Given the description of an element on the screen output the (x, y) to click on. 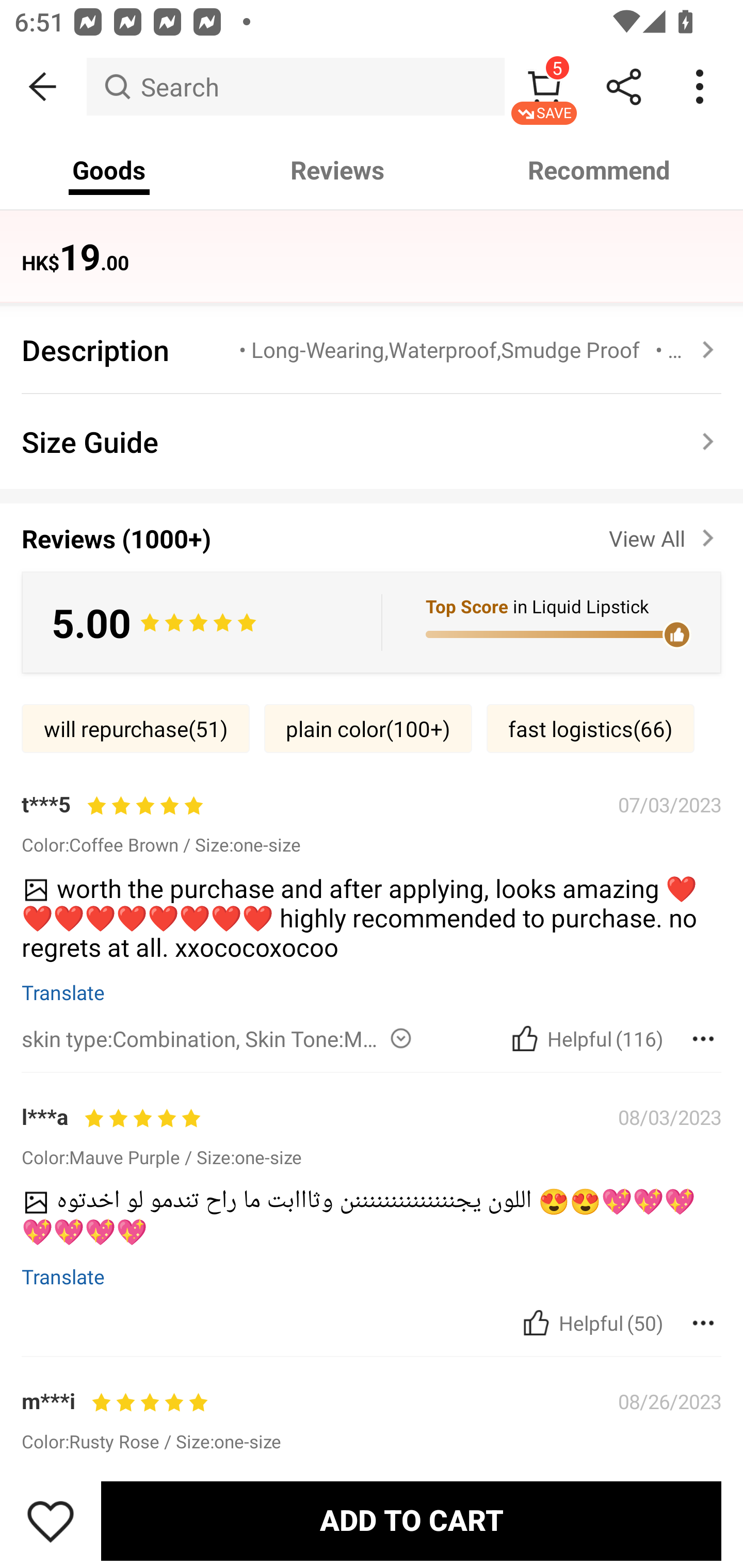
BACK (43, 86)
5 SAVE (543, 87)
Search (295, 87)
Goods (109, 170)
Reviews (337, 170)
Recommend (599, 170)
Return and exchange goods are not supported. (359, 244)
Size Guide (371, 441)
View All (664, 534)
will repurchase(51) (135, 728)
plain color(100‎+) (367, 728)
fast logistics(66) (590, 728)
Translate (62, 991)
Cancel Helpful Was this article helpful? (116) (585, 1038)
Translate (62, 1276)
Cancel Helpful Was this article helpful? (50) (591, 1322)
ADD TO CART (411, 1520)
Save (50, 1520)
Translate (62, 1530)
